Given the description of an element on the screen output the (x, y) to click on. 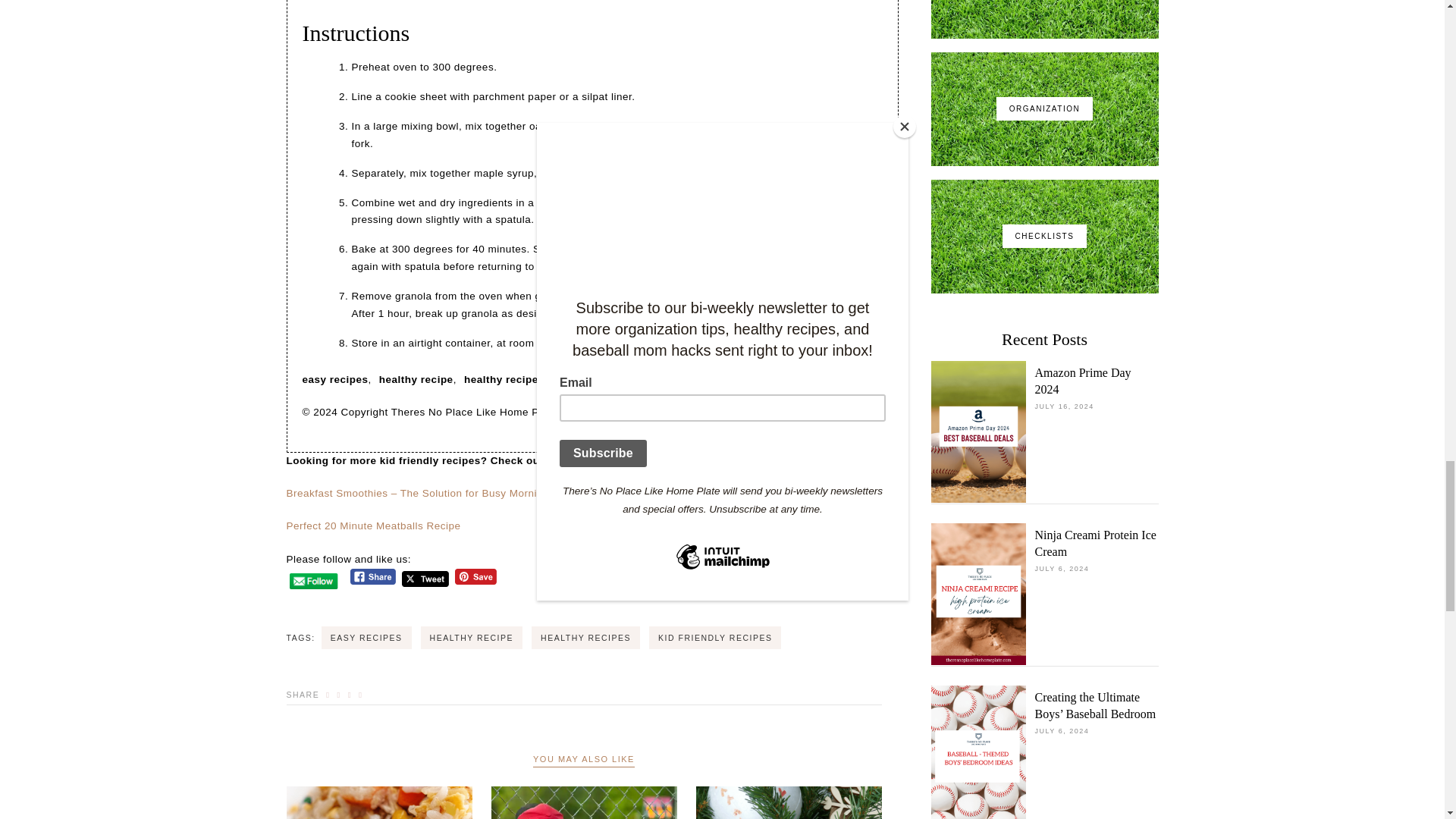
Facebook Share (373, 576)
Pin Share (475, 576)
Tweet (424, 578)
